Given the description of an element on the screen output the (x, y) to click on. 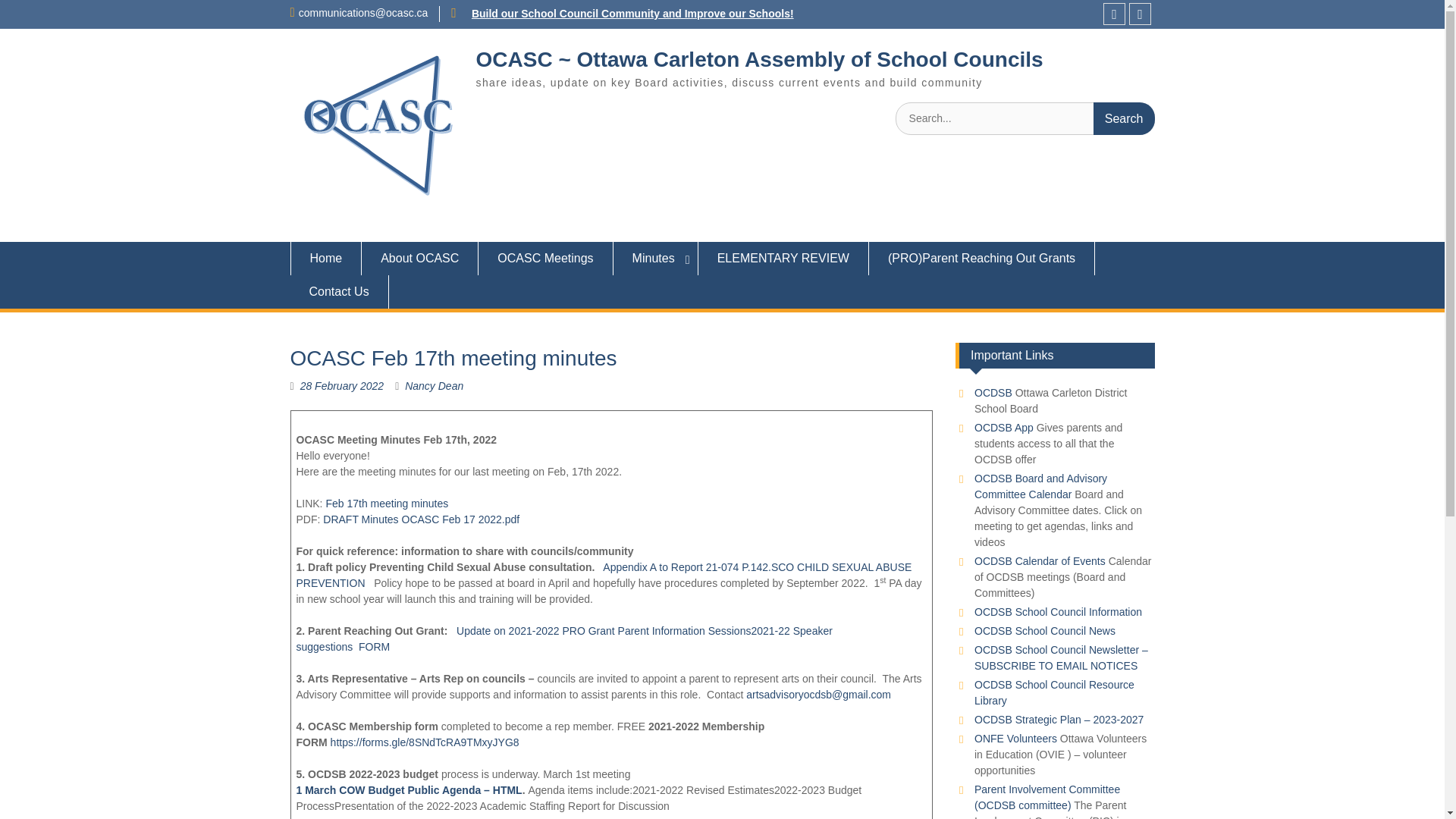
Update on 2021-2022 PRO Grant Parent Information Sessions (604, 630)
Contact Us (338, 291)
Ottawa Carleton District School Board (992, 392)
Home (325, 258)
Facebook (1114, 14)
About OCASC (420, 258)
Build our School Council Community and Improve our Schools! (632, 13)
Twitter (1140, 14)
Search (1123, 118)
Search (1123, 118)
OCDSB School Council Information (1057, 612)
Minutes (655, 258)
OCDSB School Council Resource Library (1054, 692)
